Given the description of an element on the screen output the (x, y) to click on. 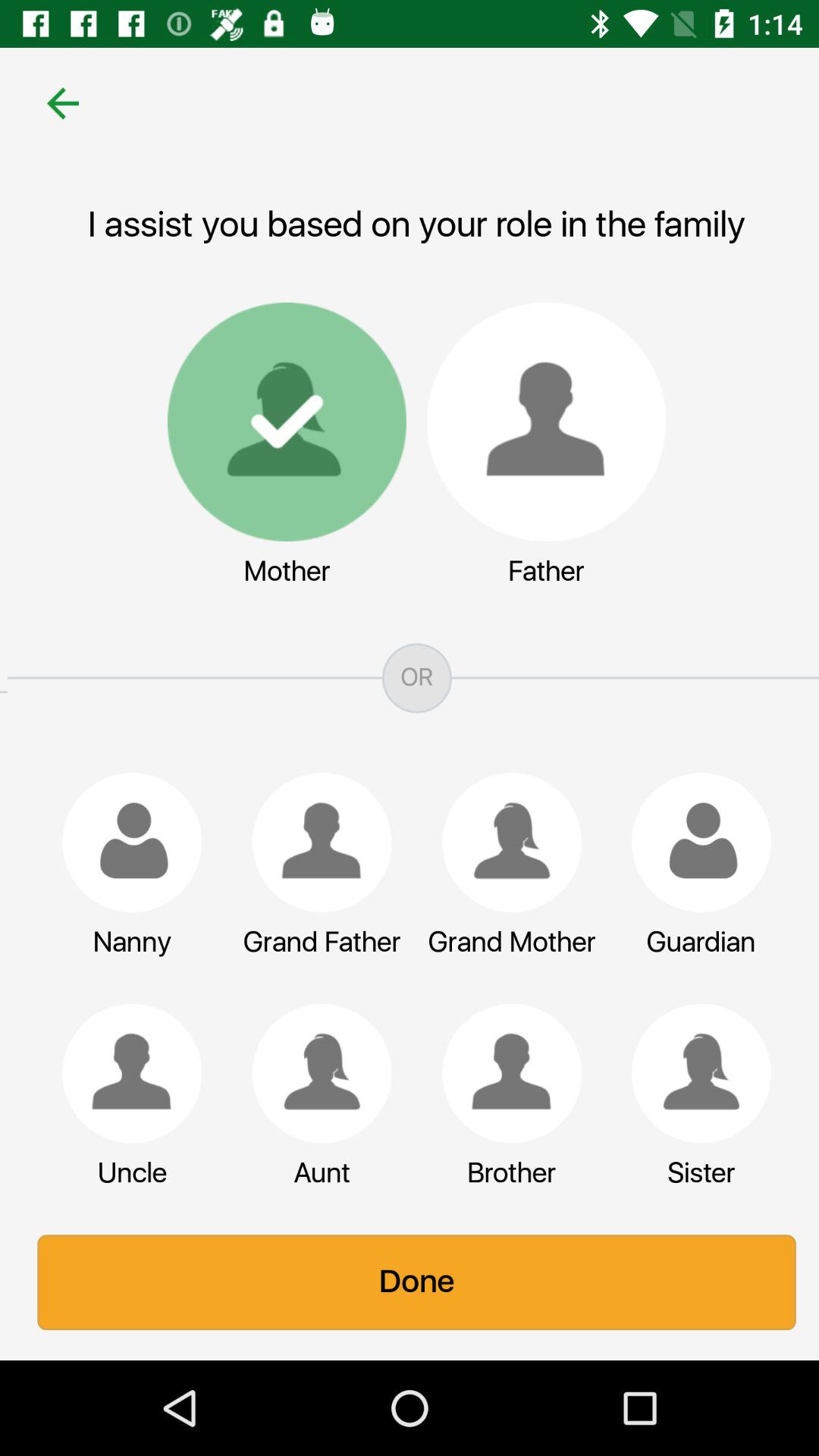
add a relative (124, 1073)
